Given the description of an element on the screen output the (x, y) to click on. 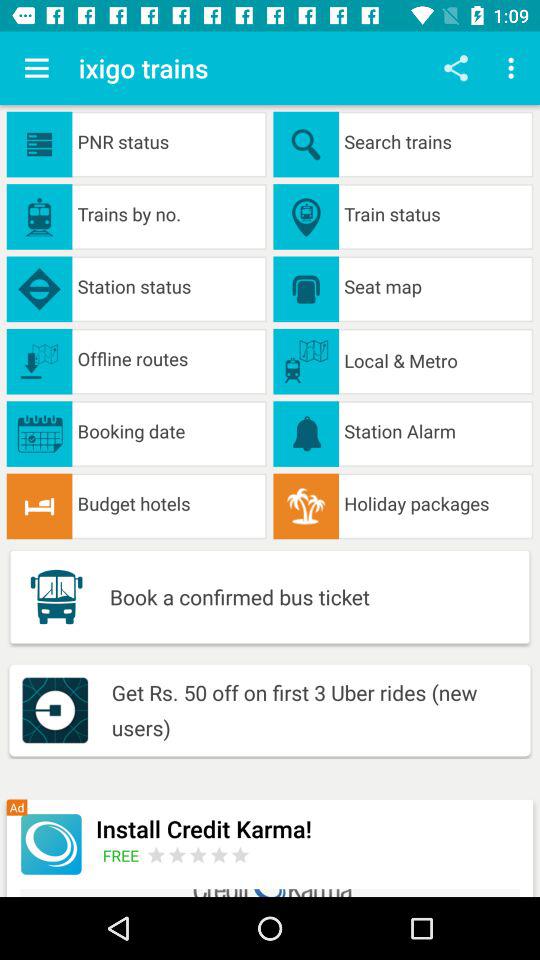
install app (50, 844)
